Given the description of an element on the screen output the (x, y) to click on. 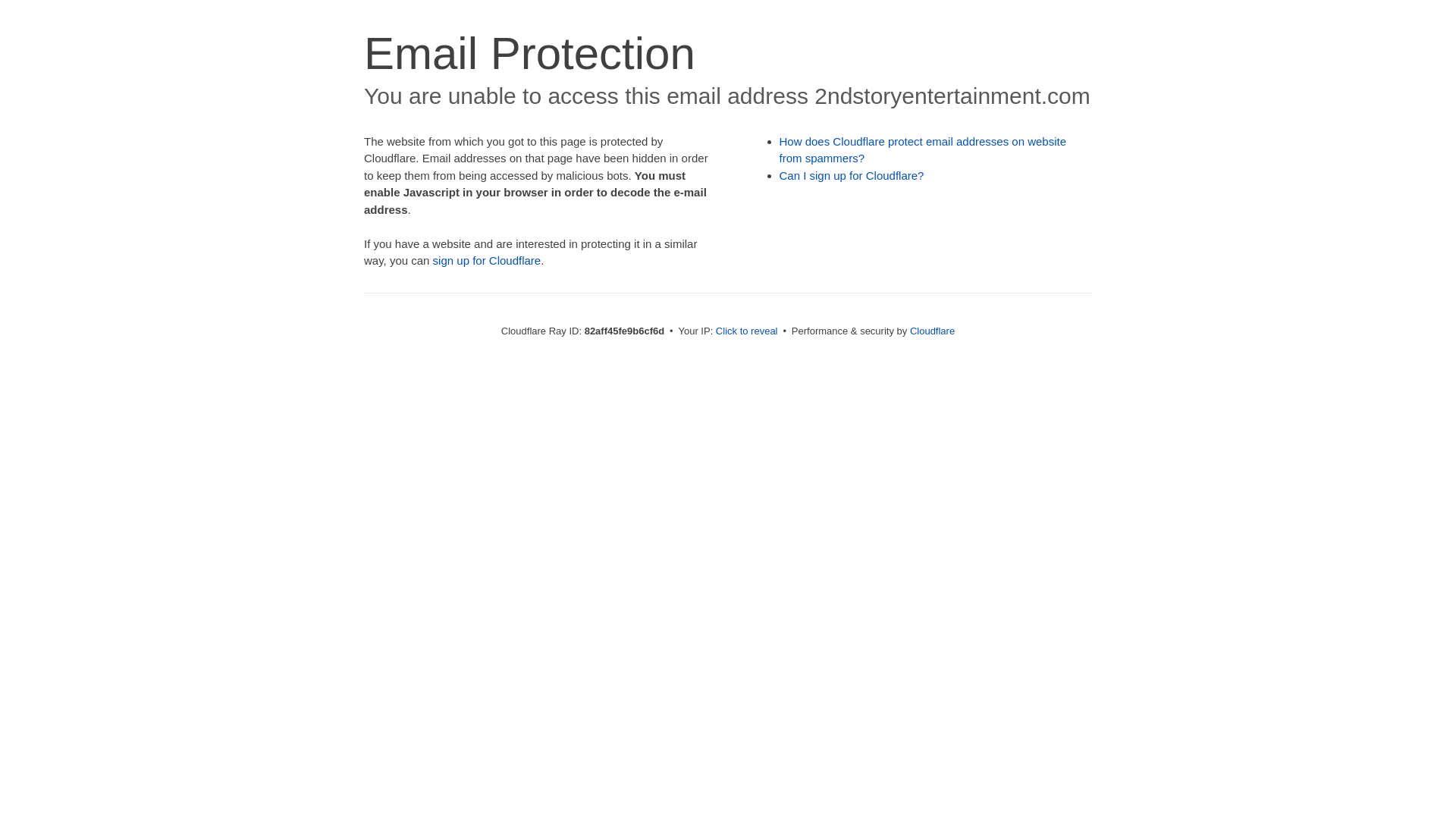
Cloudflare Element type: text (932, 330)
Click to reveal Element type: text (746, 330)
sign up for Cloudflare Element type: text (487, 260)
Can I sign up for Cloudflare? Element type: text (851, 175)
